Given the description of an element on the screen output the (x, y) to click on. 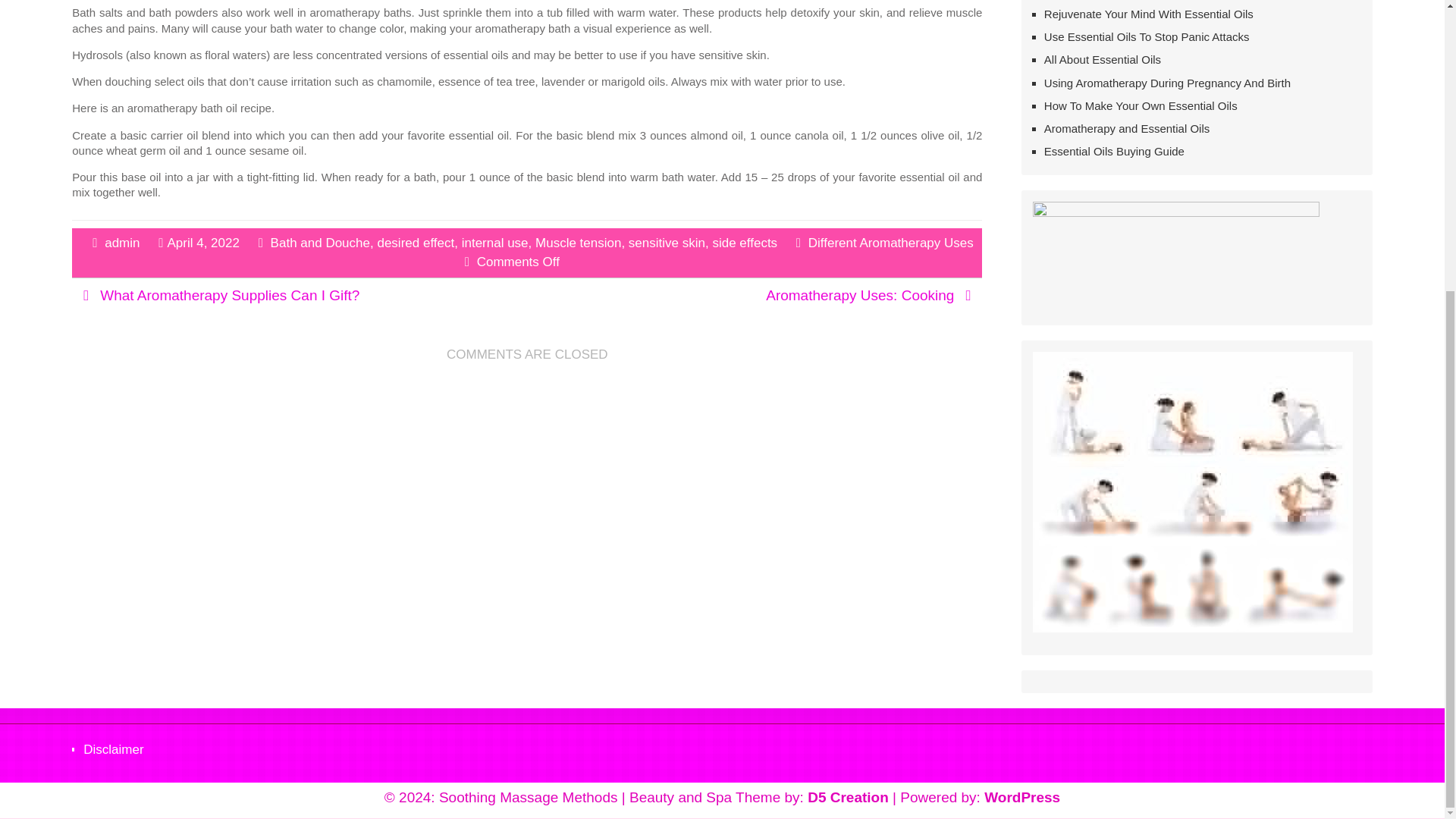
Essential Oils Buying Guide (1114, 151)
Posts by admin (121, 242)
All About Essential Oils (1101, 59)
side effects (744, 242)
internal use (494, 242)
sensitive skin (666, 242)
What Aromatherapy Supplies Can I Gift? (229, 294)
Bath and Douche (319, 242)
Using Aromatherapy During Pregnancy And Birth (1166, 82)
Different Aromatherapy Uses (891, 242)
Aromatherapy Uses: Cooking (859, 294)
Muscle tension (578, 242)
How To Make Your Own Essential Oils (1140, 105)
desired effect (415, 242)
Rejuvenate Your Mind With Essential Oils (1148, 13)
